Given the description of an element on the screen output the (x, y) to click on. 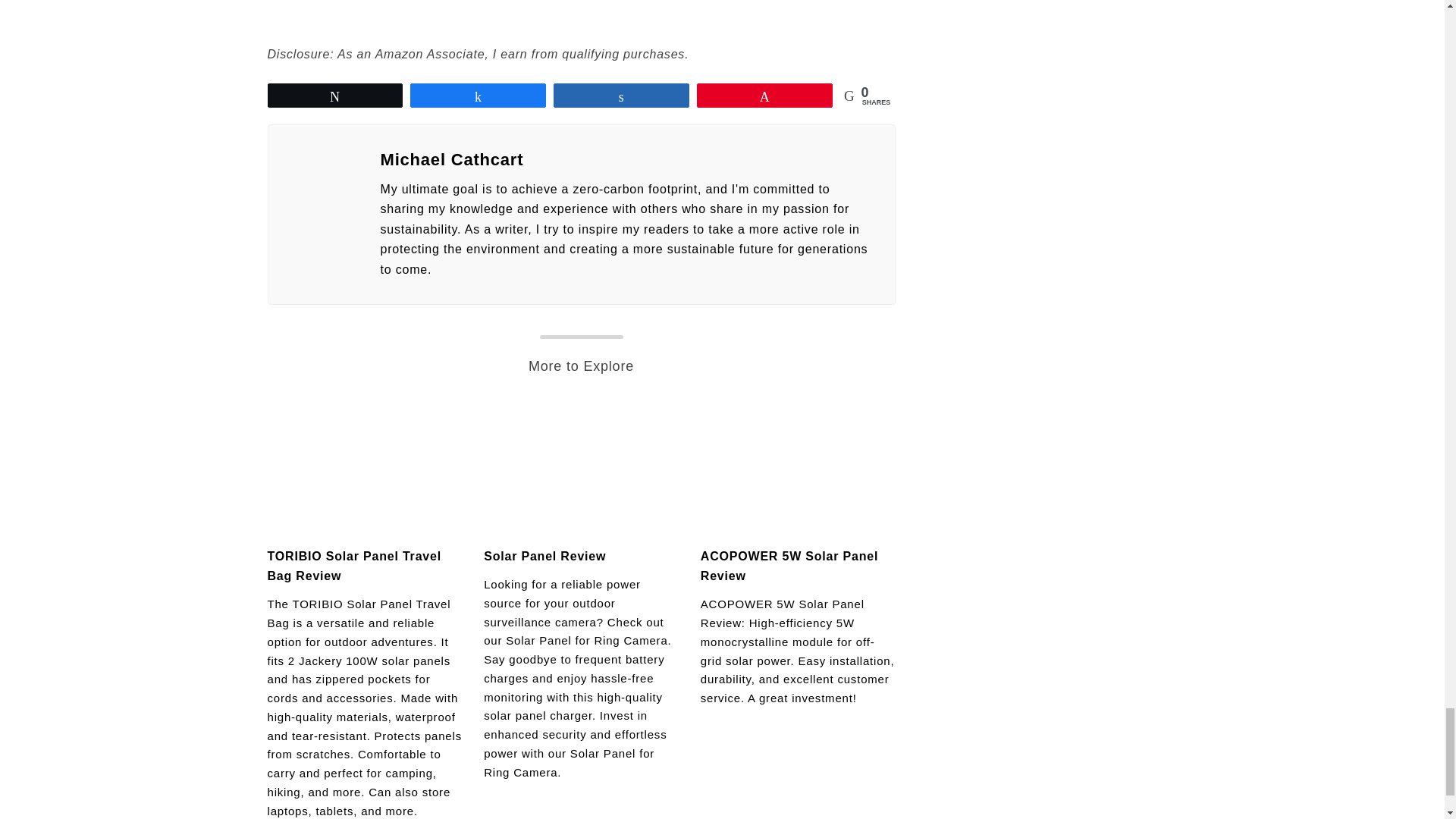
TORIBIO Solar Panel Travel Bag Review (353, 565)
Solar Panel Review (544, 555)
link to Solar Panel Review (580, 467)
link to ACOPOWER 5W Solar Panel Review (797, 467)
link to TORIBIO Solar Panel Travel Bag Review (363, 467)
Michael Cathcart (628, 159)
ACOPOWER 5W Solar Panel Review (788, 565)
